Given the description of an element on the screen output the (x, y) to click on. 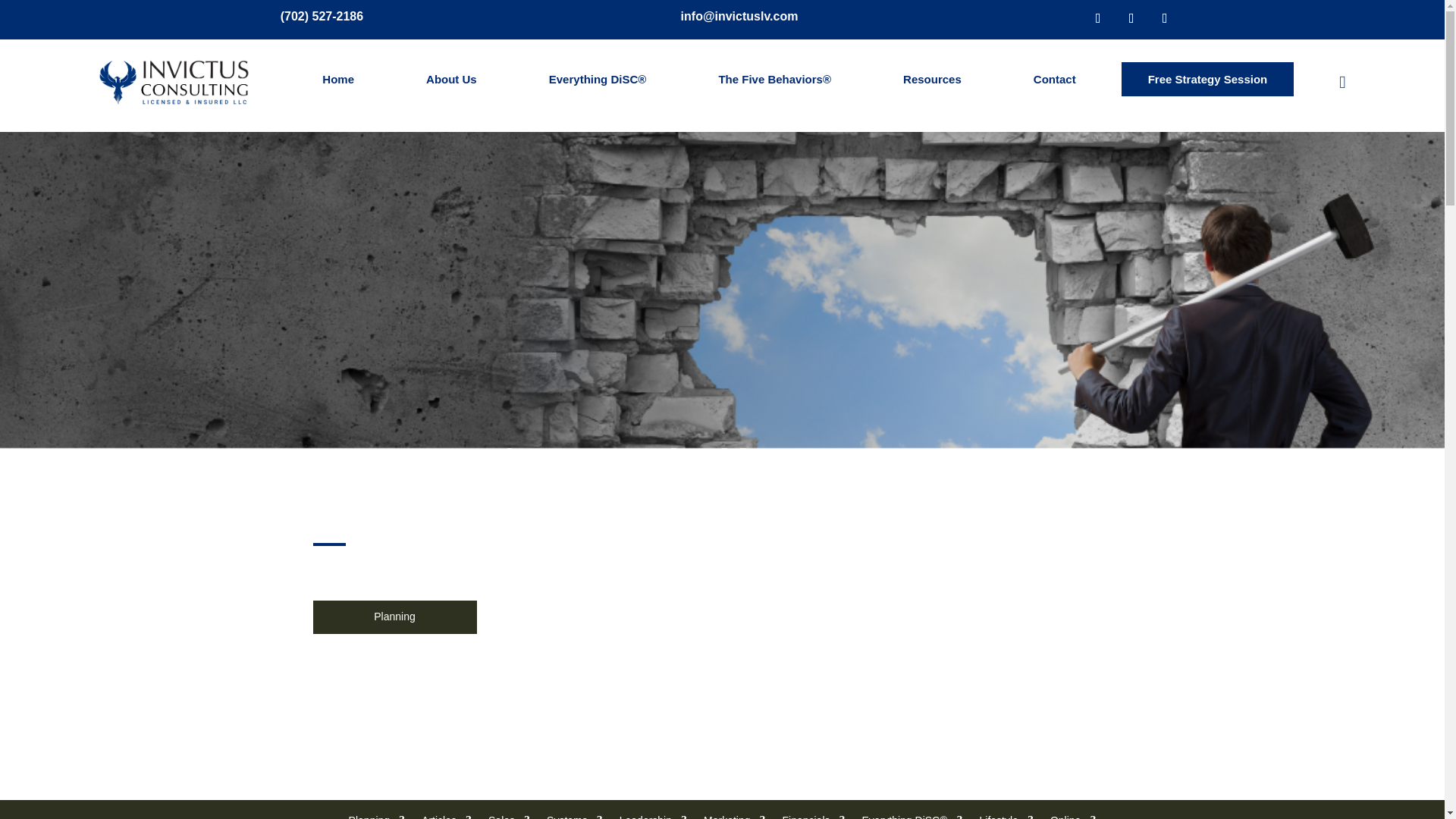
About Us (450, 79)
Resources (932, 79)
Planning (377, 816)
Follow on LinkedIn (1164, 17)
Contact (1054, 79)
Planning (394, 616)
Follow on Instagram (1131, 17)
Follow on Facebook (1098, 17)
Home (337, 79)
Free Strategy Session (1207, 79)
